Given the description of an element on the screen output the (x, y) to click on. 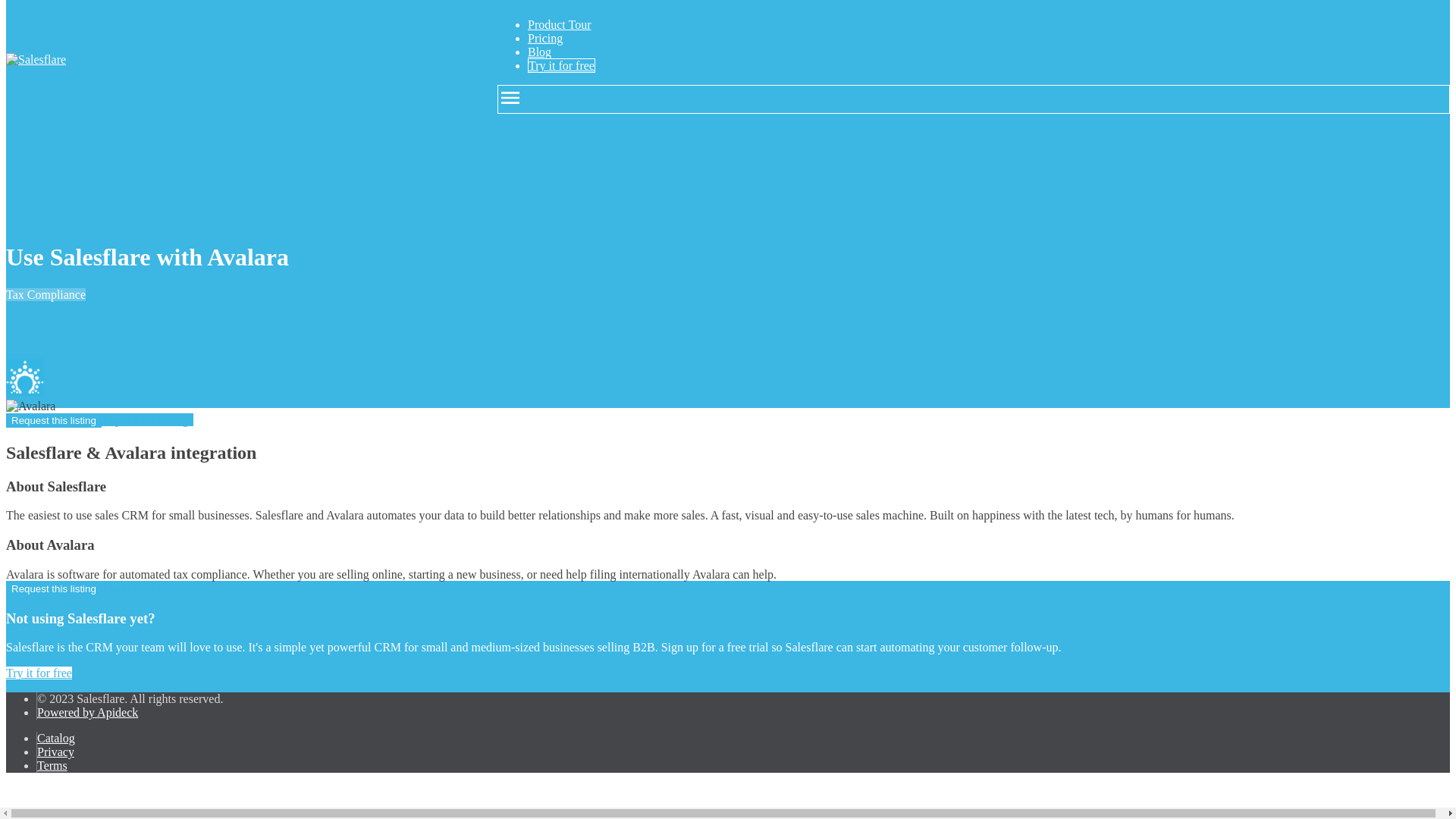
Catalog (56, 738)
Explore all listings (147, 419)
Request this listing (53, 420)
Terms (51, 765)
Salesflare (24, 377)
Privacy (55, 751)
Product Tour (559, 24)
Pricing (544, 38)
Request this listing (53, 588)
Avalara (30, 406)
Blog (539, 51)
Powered by Apideck (87, 712)
Salesflare (35, 59)
Explore all listings (147, 587)
Try it for free (38, 672)
